Given the description of an element on the screen output the (x, y) to click on. 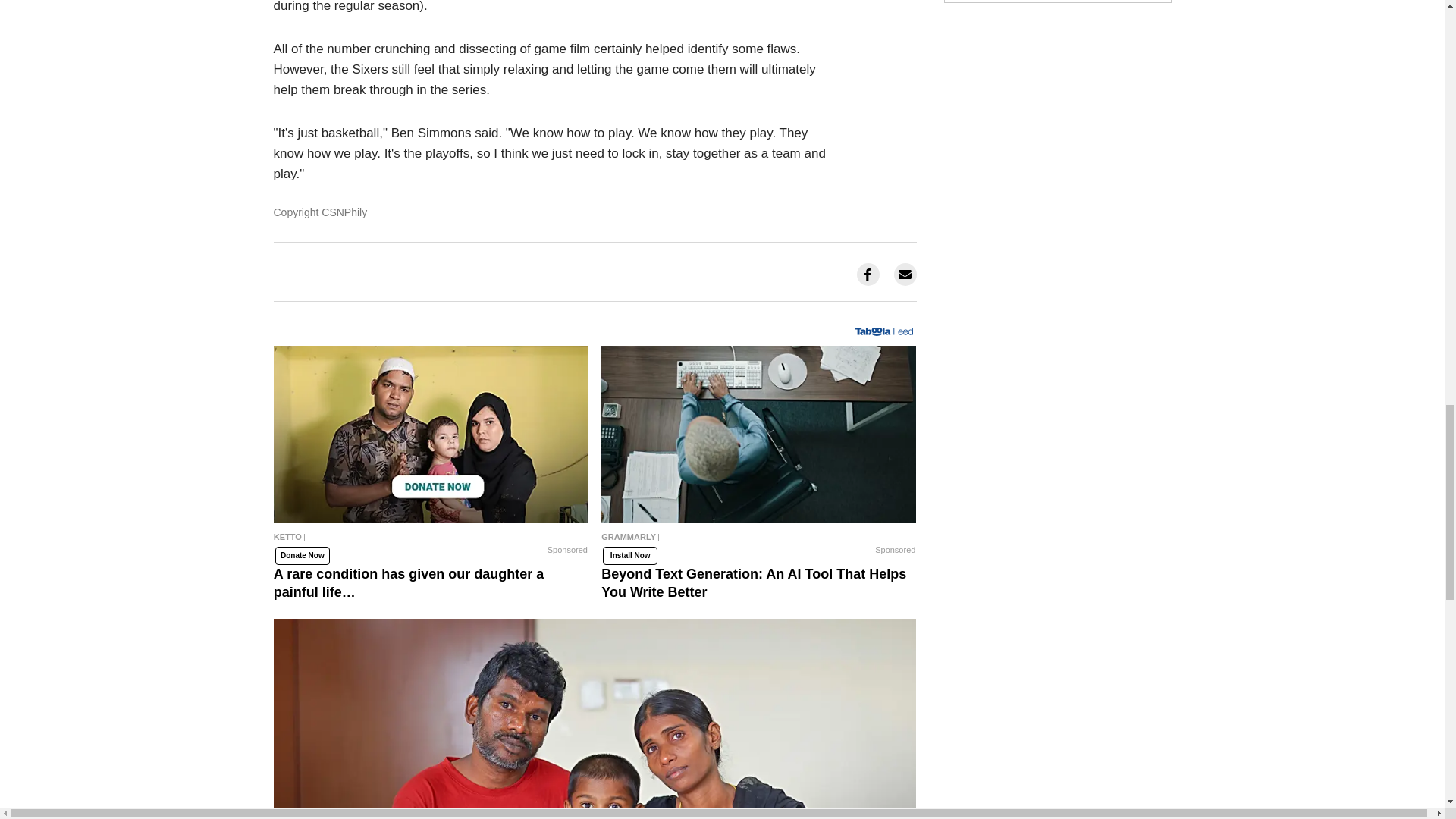
Sponsored (567, 549)
Donate Now (302, 555)
For almost 8 years, our child has been battling to live (595, 719)
